Given the description of an element on the screen output the (x, y) to click on. 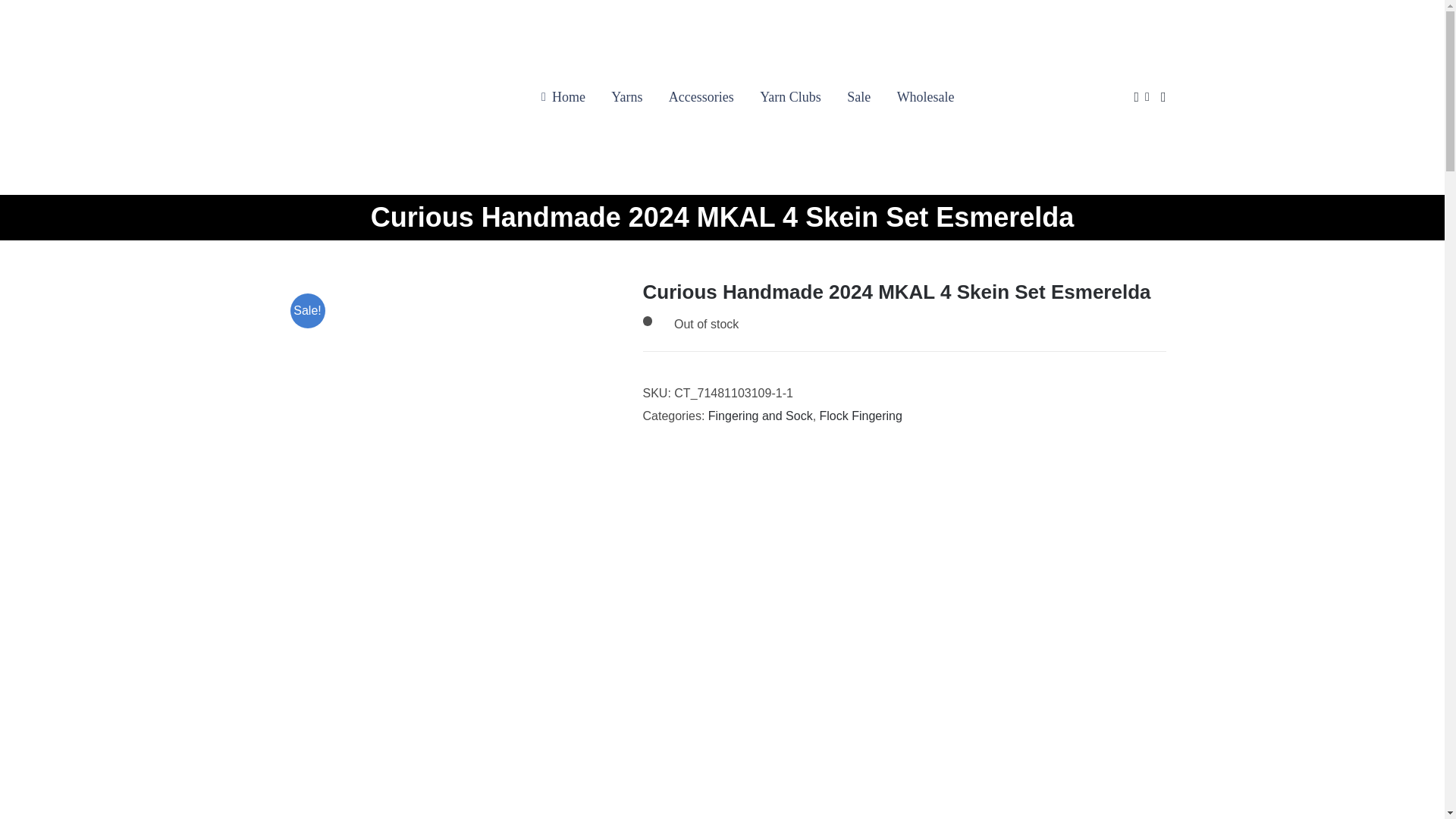
Wholesale (925, 96)
Log In (1290, 241)
Home (560, 96)
Yarns (626, 96)
Sale (858, 96)
Yarn Clubs (790, 96)
Accessories (701, 96)
Flock Fingering (860, 415)
Fingering and Sock (759, 415)
